Given the description of an element on the screen output the (x, y) to click on. 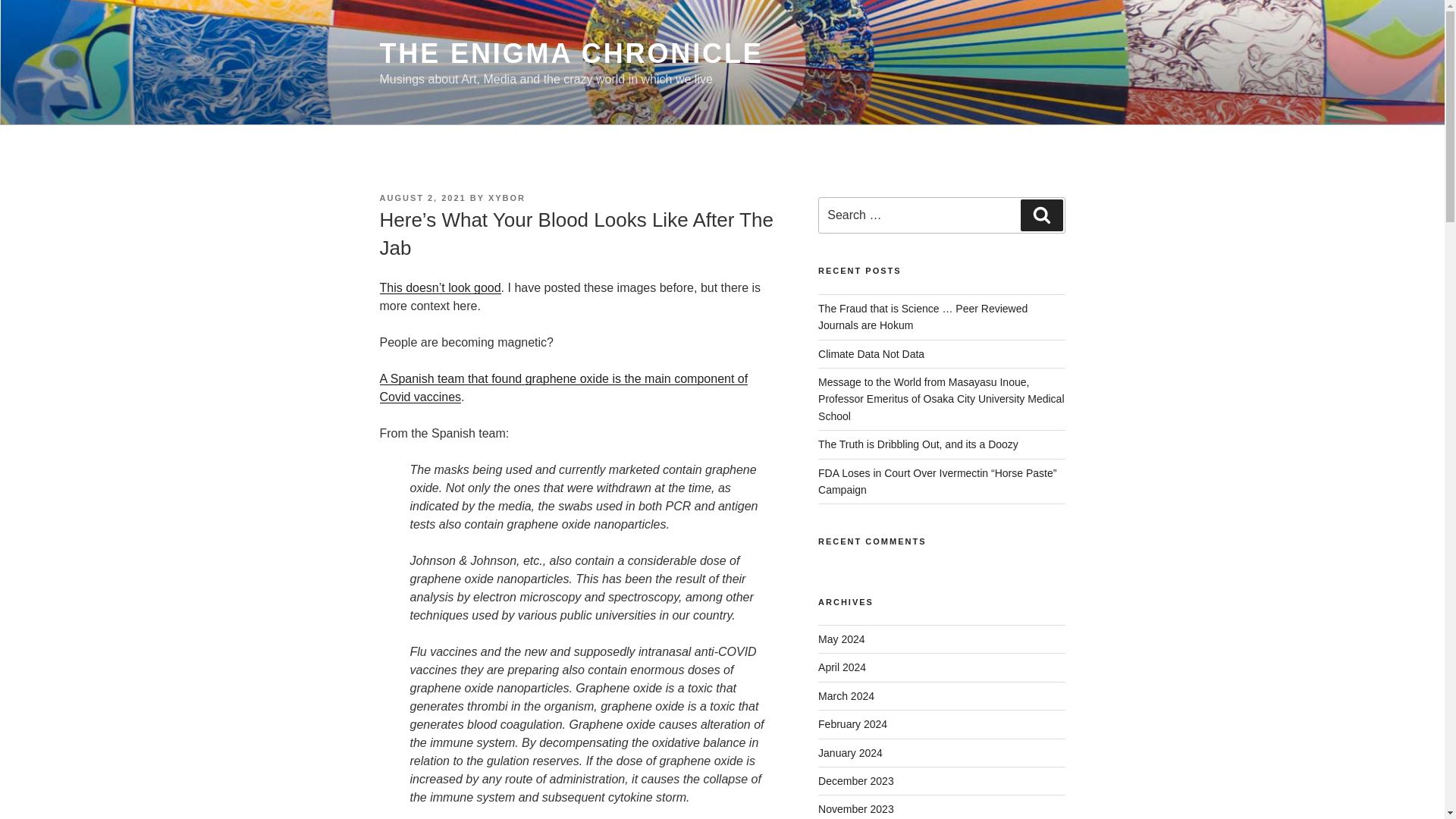
Search (1041, 214)
November 2023 (855, 808)
May 2024 (841, 639)
AUGUST 2, 2021 (421, 197)
December 2023 (855, 780)
The Truth is Dribbling Out, and its a Doozy (917, 444)
April 2024 (842, 666)
January 2024 (850, 752)
XYBOR (506, 197)
